Given the description of an element on the screen output the (x, y) to click on. 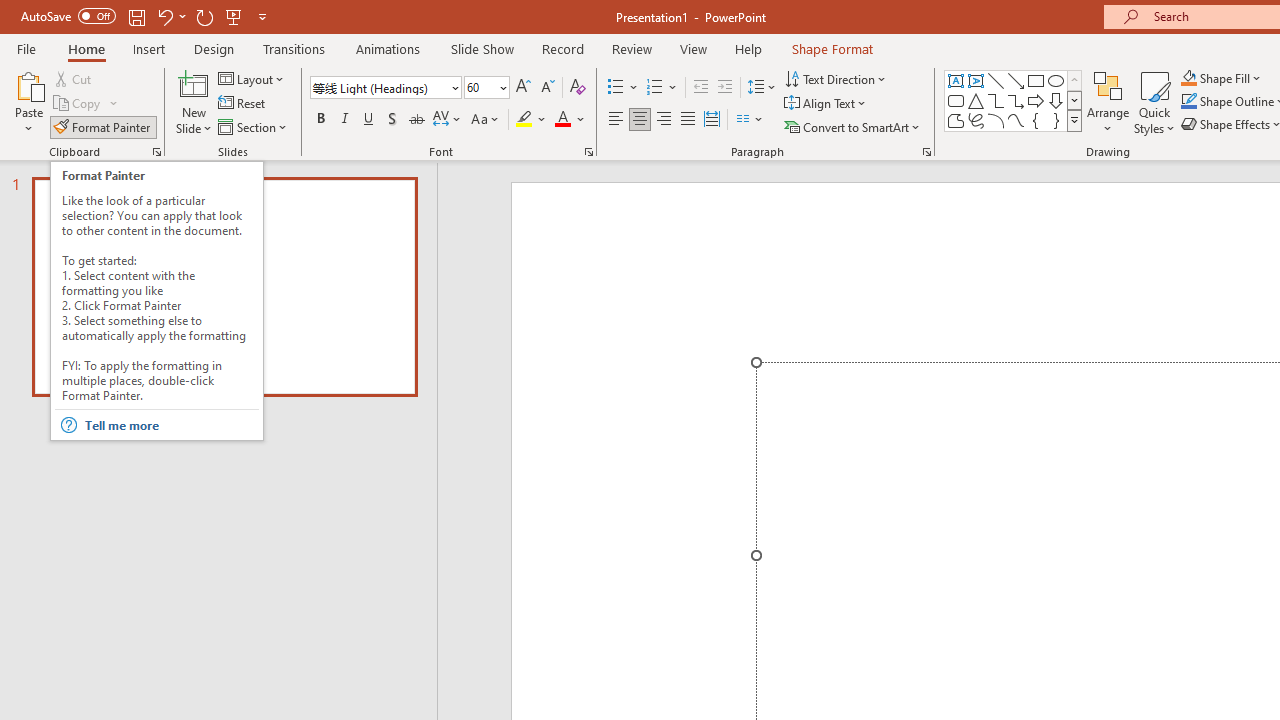
Font... (588, 151)
Justify (687, 119)
Italic (344, 119)
Align Text (826, 103)
Insert (149, 48)
Text Direction (836, 78)
Arc (995, 120)
Text Highlight Color Yellow (524, 119)
Paste (28, 84)
From Beginning (234, 15)
Class: NetUIImage (1075, 120)
Isosceles Triangle (975, 100)
View (693, 48)
Underline (369, 119)
Change Case (486, 119)
